Given the description of an element on the screen output the (x, y) to click on. 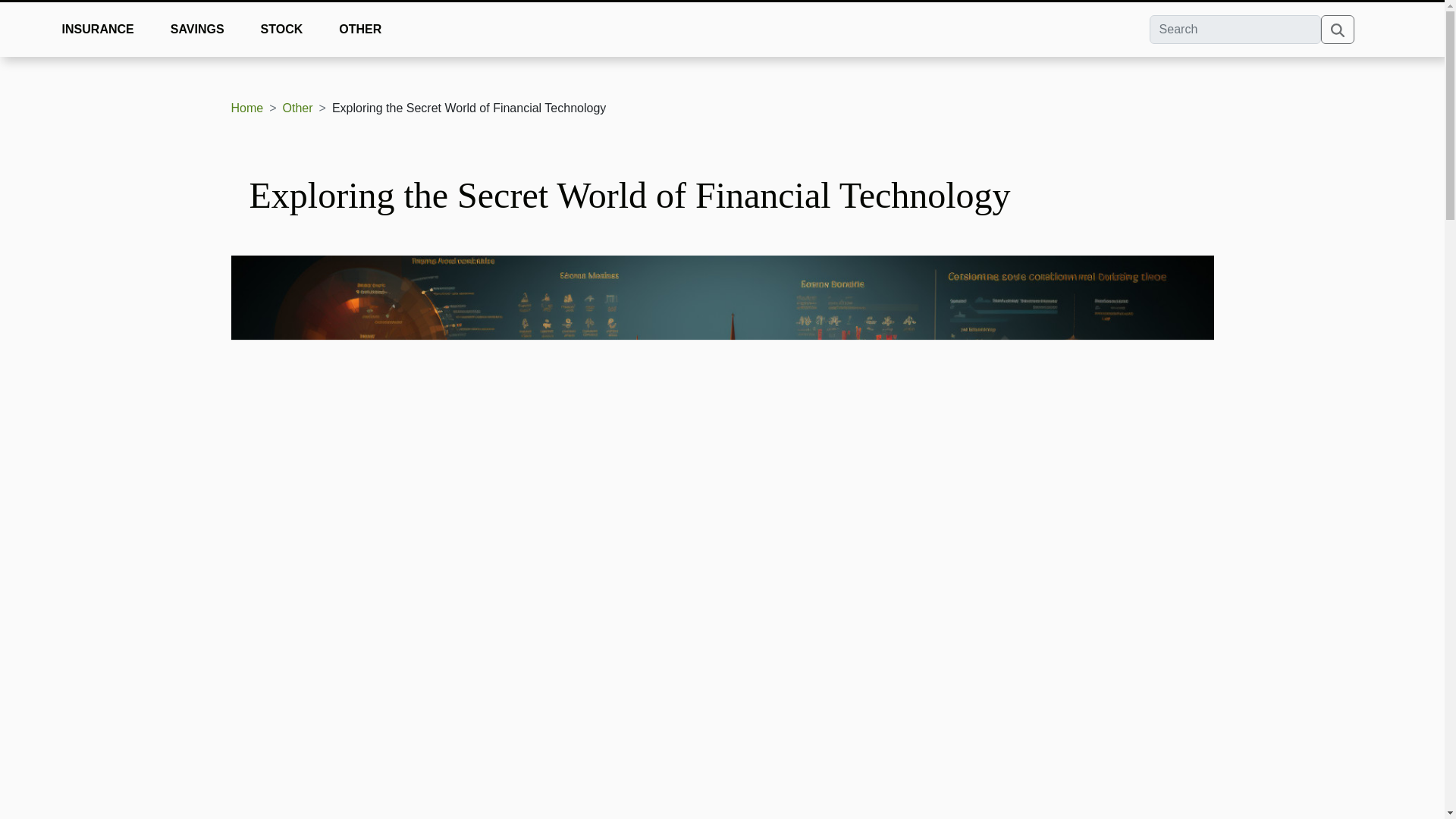
OTHER (359, 29)
Other (297, 107)
Other (297, 107)
SAVINGS (197, 29)
INSURANCE (97, 29)
Home (246, 107)
STOCK (282, 29)
